Given the description of an element on the screen output the (x, y) to click on. 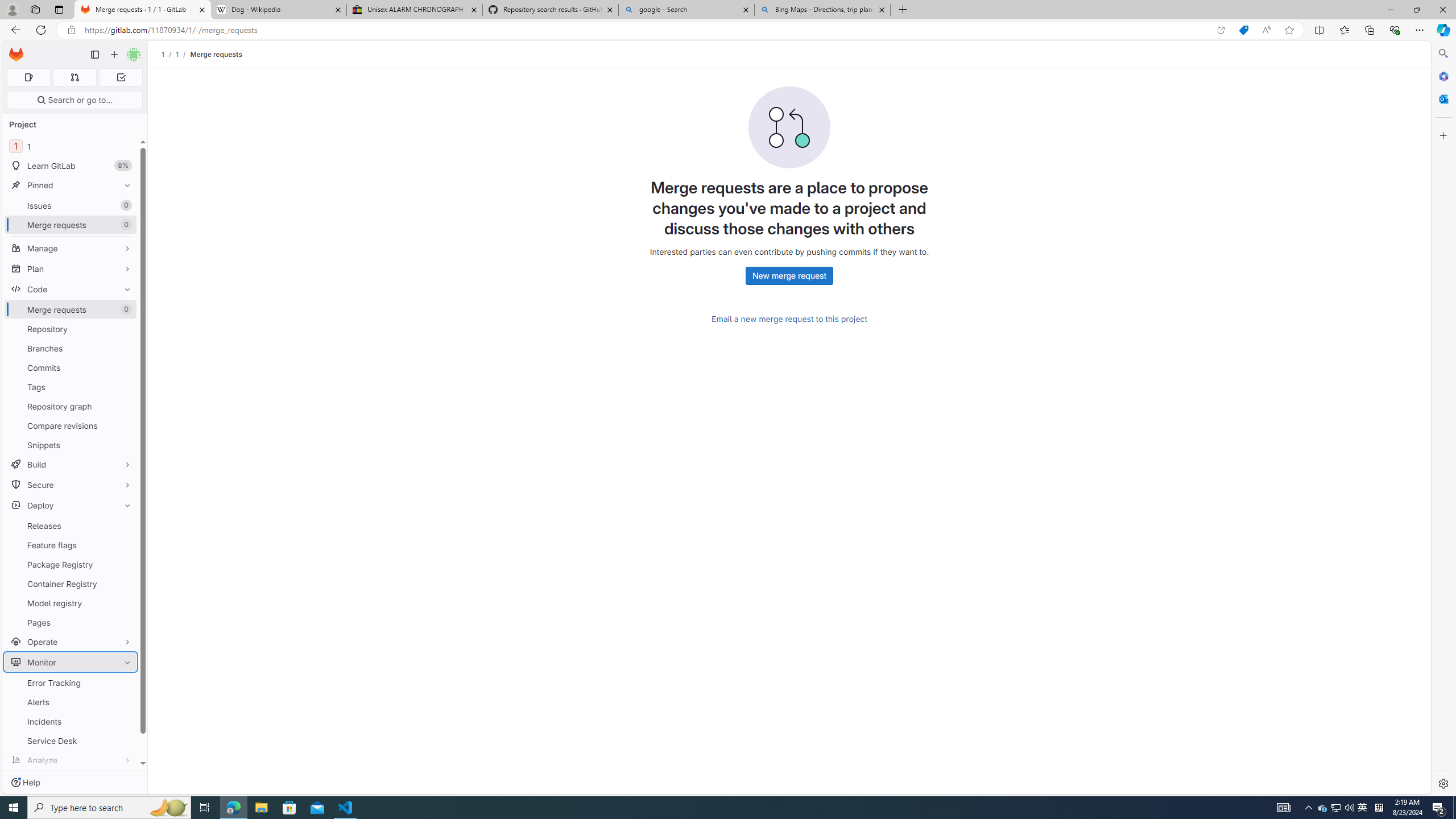
Model registry (70, 602)
Plan (70, 268)
Repository graph (70, 406)
Pin Alerts (124, 702)
Analyze (70, 760)
Pin Snippets (124, 445)
Error Tracking (70, 682)
Pin Pages (124, 622)
Feature flags (70, 544)
Repository (70, 328)
Repository (70, 328)
